Given the description of an element on the screen output the (x, y) to click on. 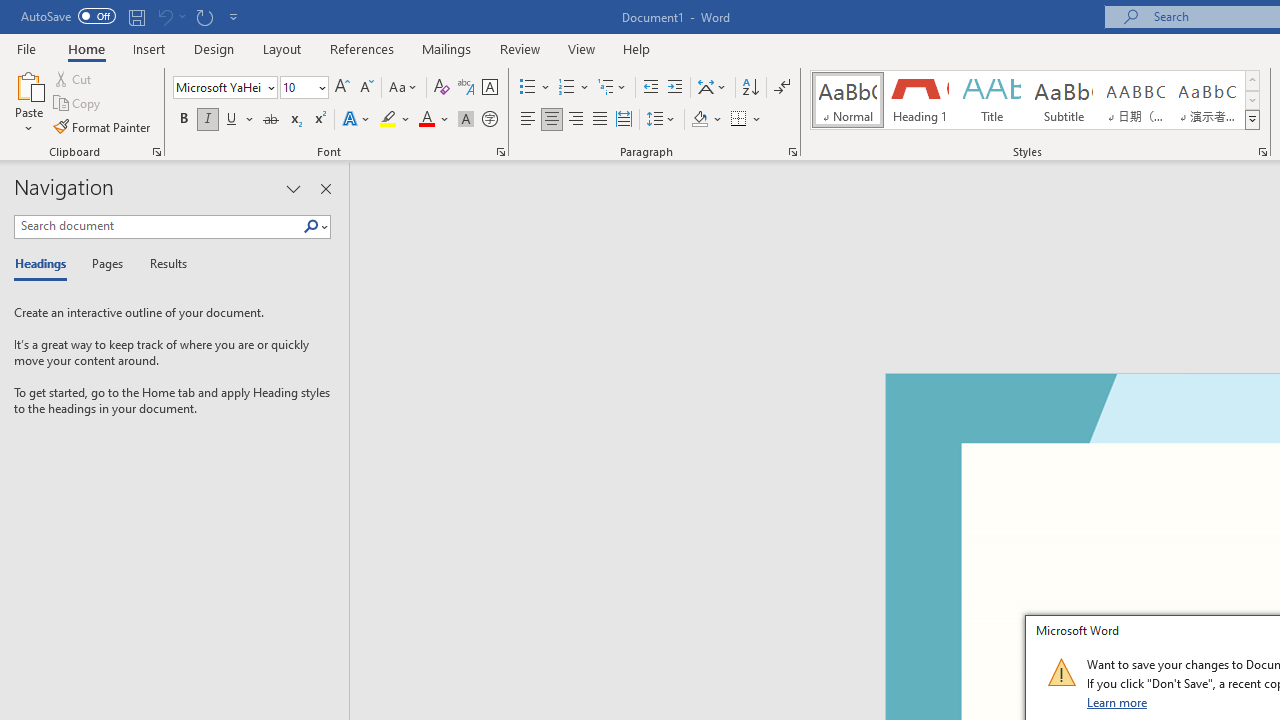
Can't Undo (170, 15)
Can't Undo (164, 15)
